Given the description of an element on the screen output the (x, y) to click on. 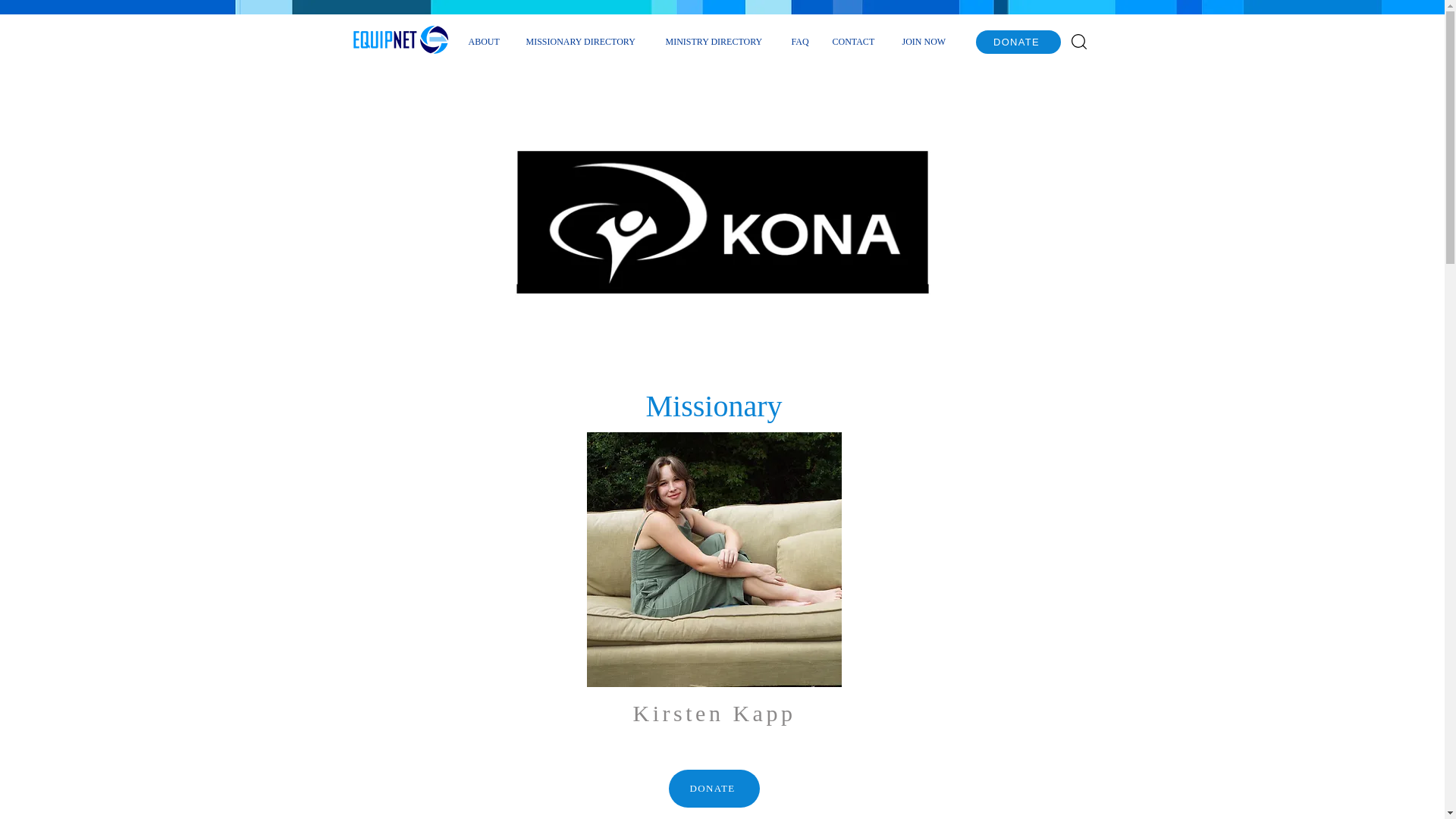
MISSIONARY DIRECTORY (583, 41)
Kirsten Kapp (713, 559)
CONTACT (855, 41)
ABOUT (485, 41)
MINISTRY DIRECTORY (715, 41)
DONATE (714, 788)
FAQ (799, 41)
DONATE (1017, 42)
JOIN NOW (925, 41)
